Given the description of an element on the screen output the (x, y) to click on. 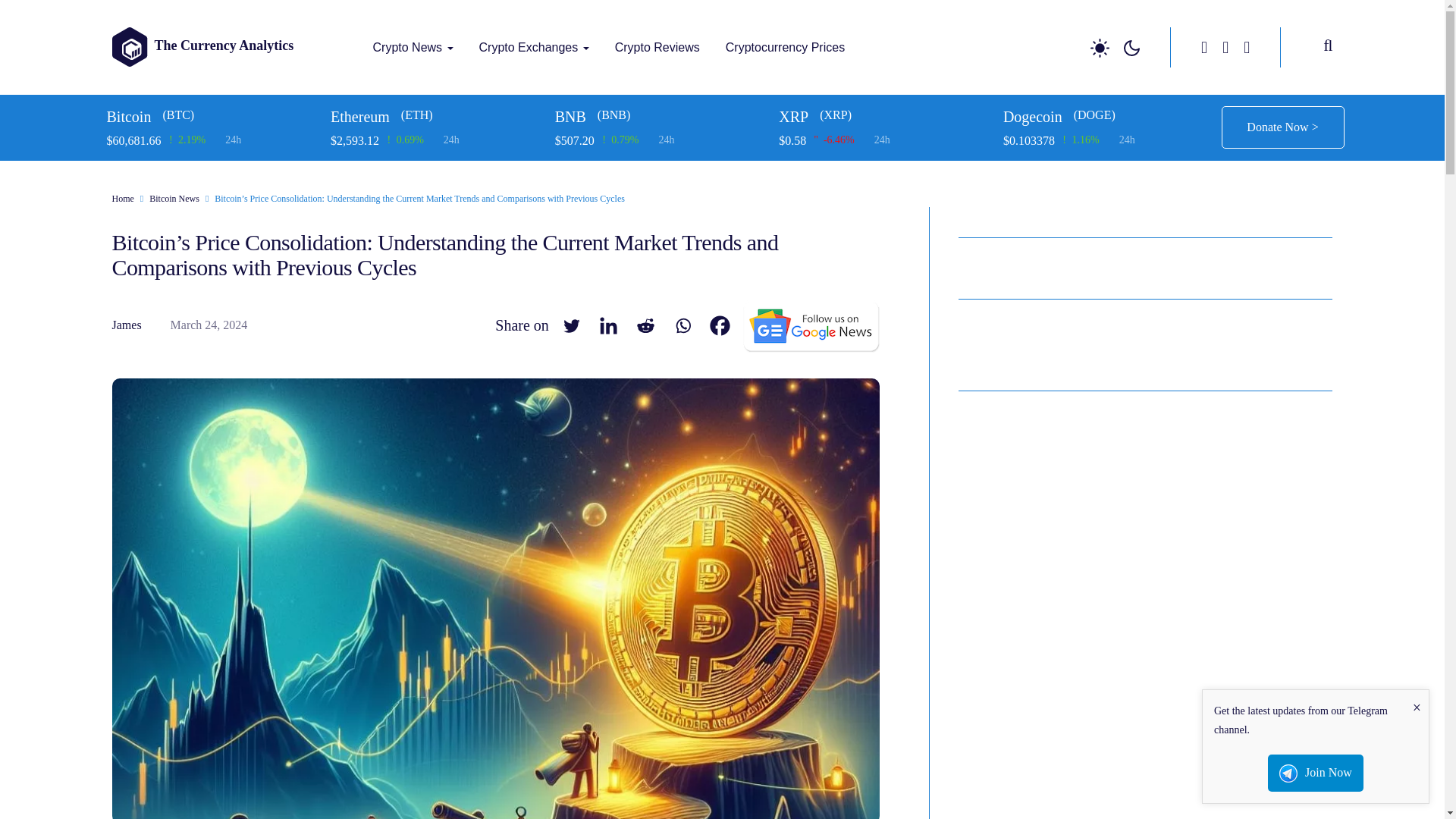
Crypto News (412, 47)
The Currency analytics (379, 77)
Crypto Exchanges (533, 47)
Bitcoin (212, 116)
Crypto News (412, 47)
Crypto Exchanges (533, 47)
Cryptocurrency Prices (785, 47)
Ethereum (436, 116)
Crypto Reviews (657, 47)
